Given the description of an element on the screen output the (x, y) to click on. 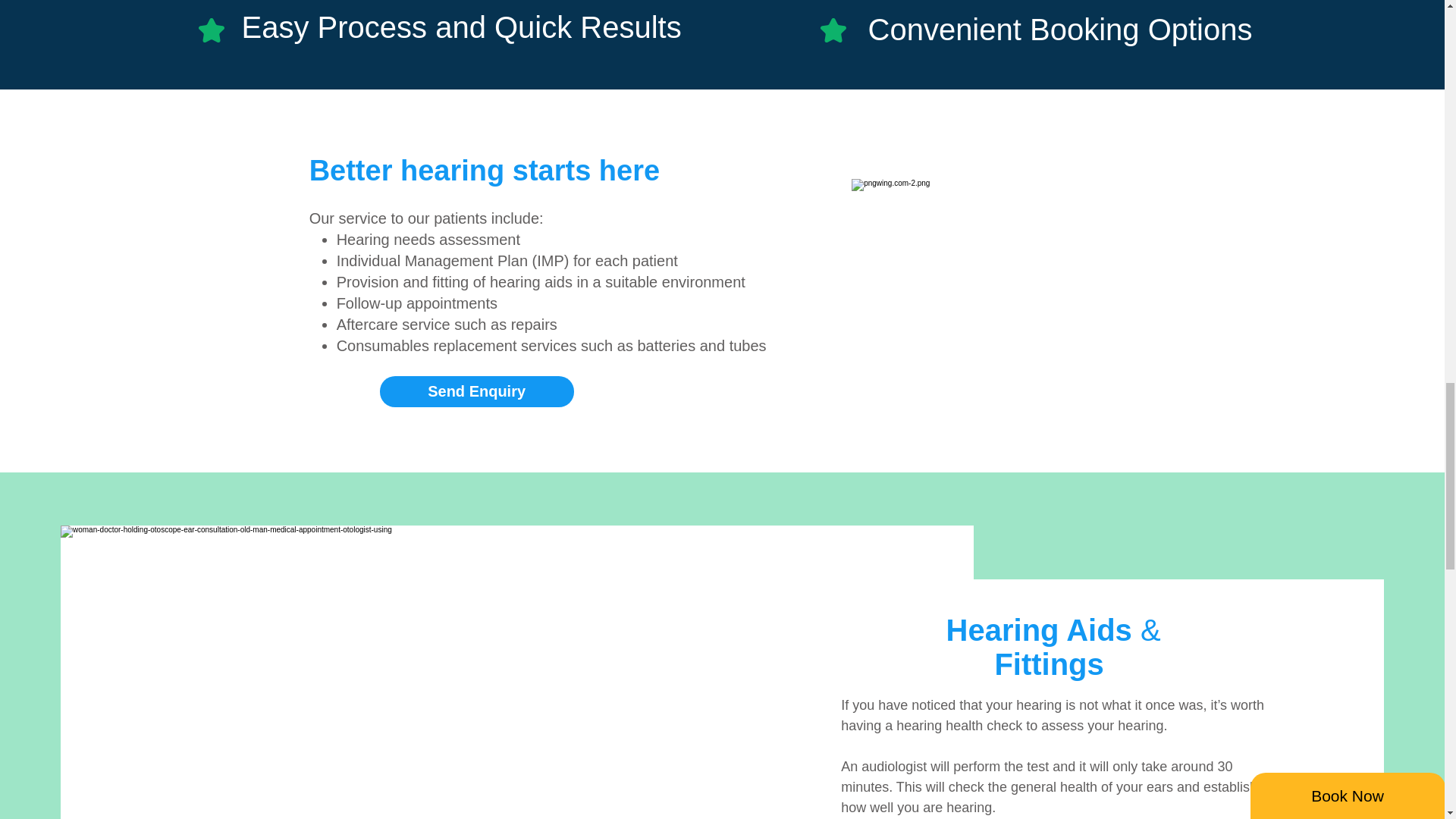
Send Enquiry (476, 391)
